Given the description of an element on the screen output the (x, y) to click on. 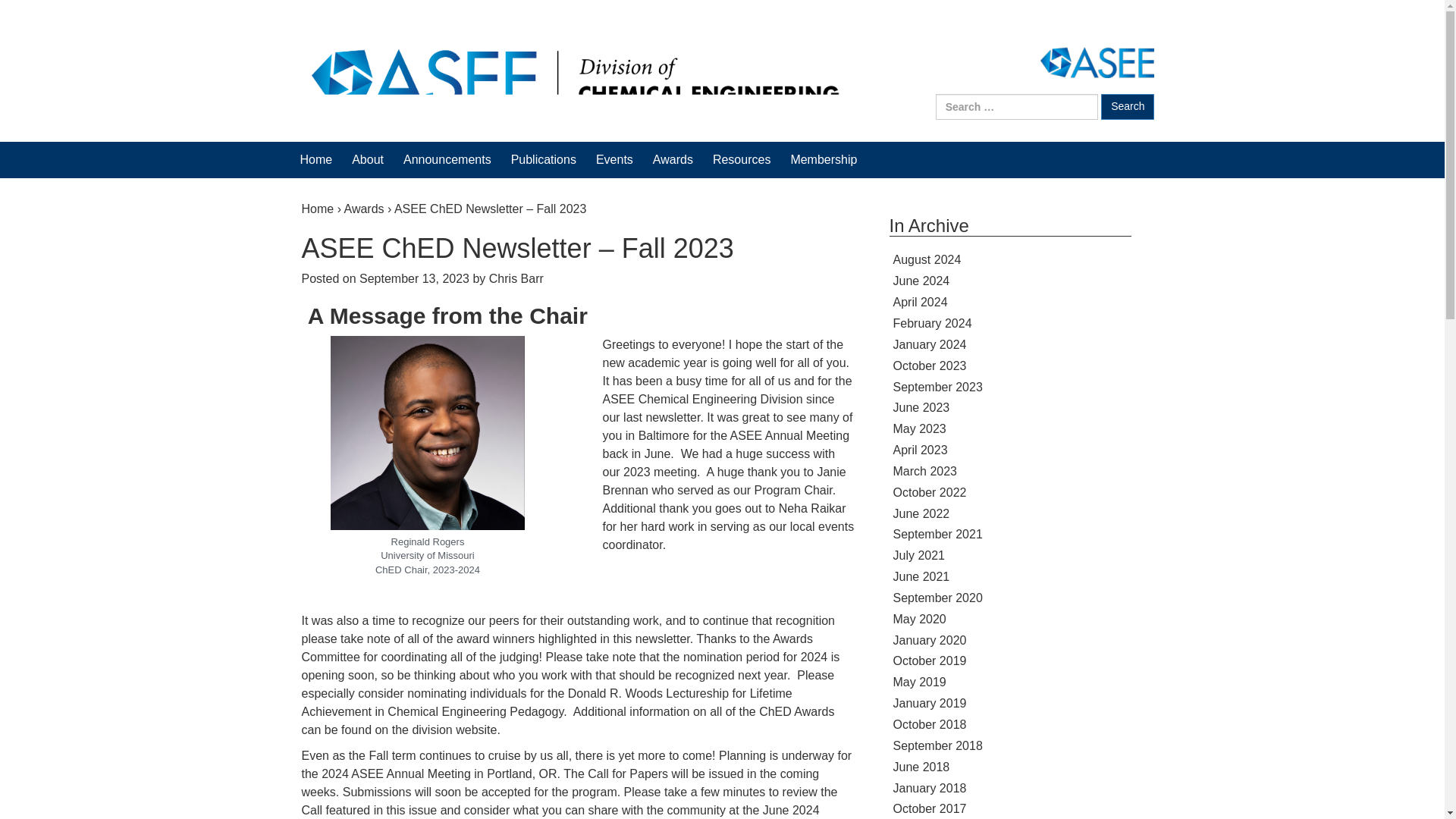
ASEE Chemical Engineering Division (574, 78)
Search (1127, 106)
Awards (672, 159)
Search (1127, 106)
Events (614, 159)
Skip to main menu (50, 26)
1:05 pm (413, 278)
Skip to content (40, 26)
Announcements (447, 159)
About (368, 159)
